Given the description of an element on the screen output the (x, y) to click on. 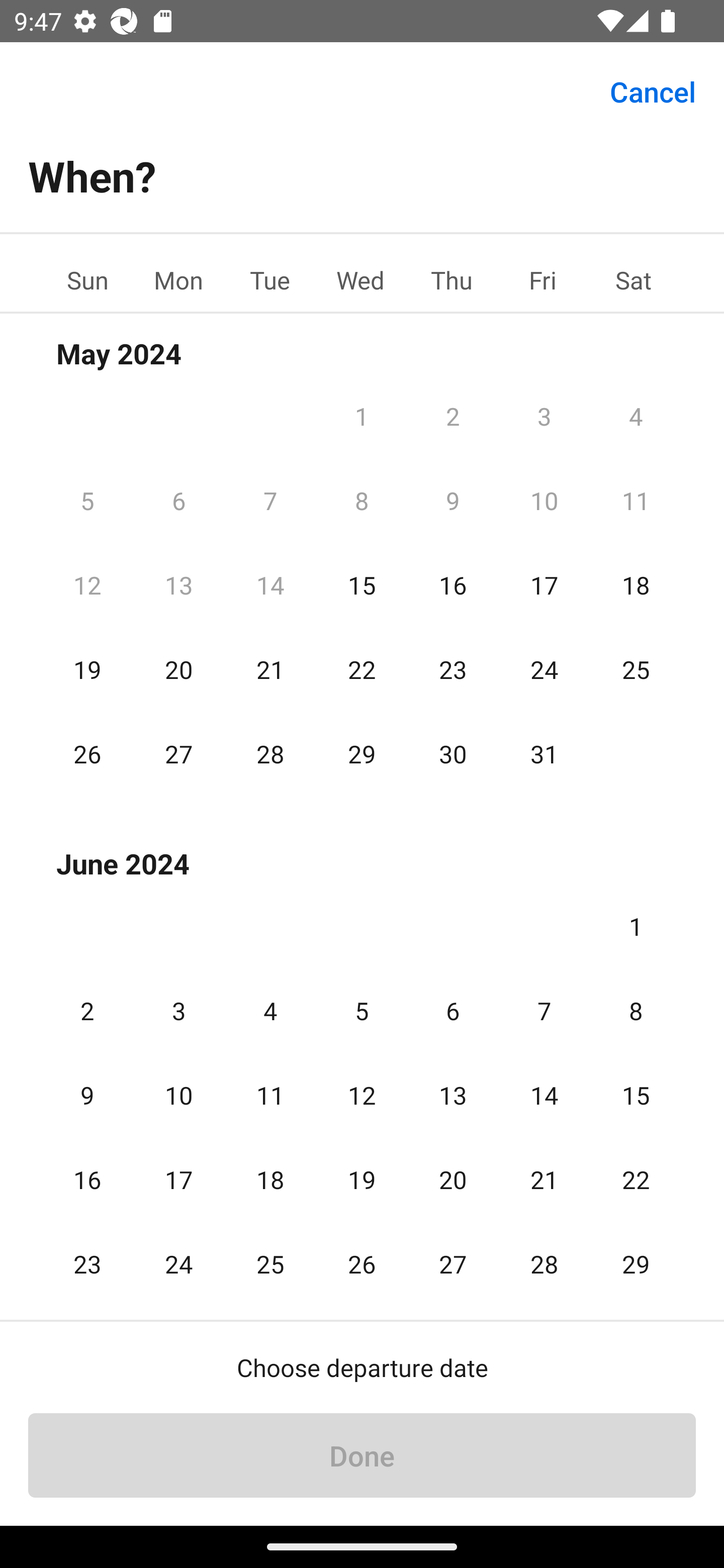
Cancel (652, 90)
Done (361, 1454)
